Given the description of an element on the screen output the (x, y) to click on. 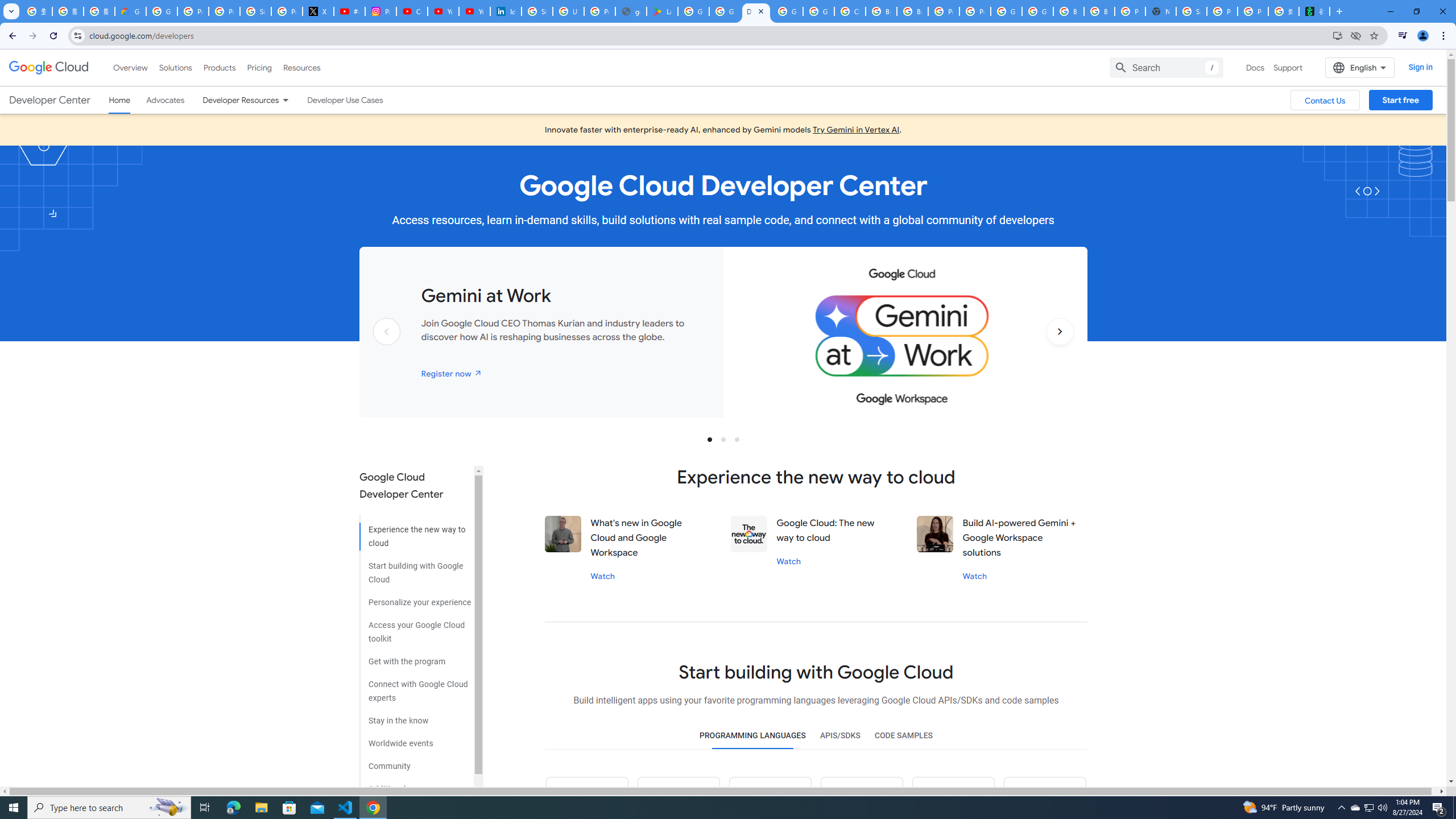
Worldwide events (415, 739)
Stay in the know (415, 716)
Data value (748, 533)
Sign in - Google Accounts (1190, 11)
Google Cloud Platform (787, 11)
Privacy Help Center - Policies Help (223, 11)
Install Google Cloud (1336, 35)
Developer Use Cases (344, 99)
English (1359, 67)
Solutions (175, 67)
Pricing (259, 67)
